Given the description of an element on the screen output the (x, y) to click on. 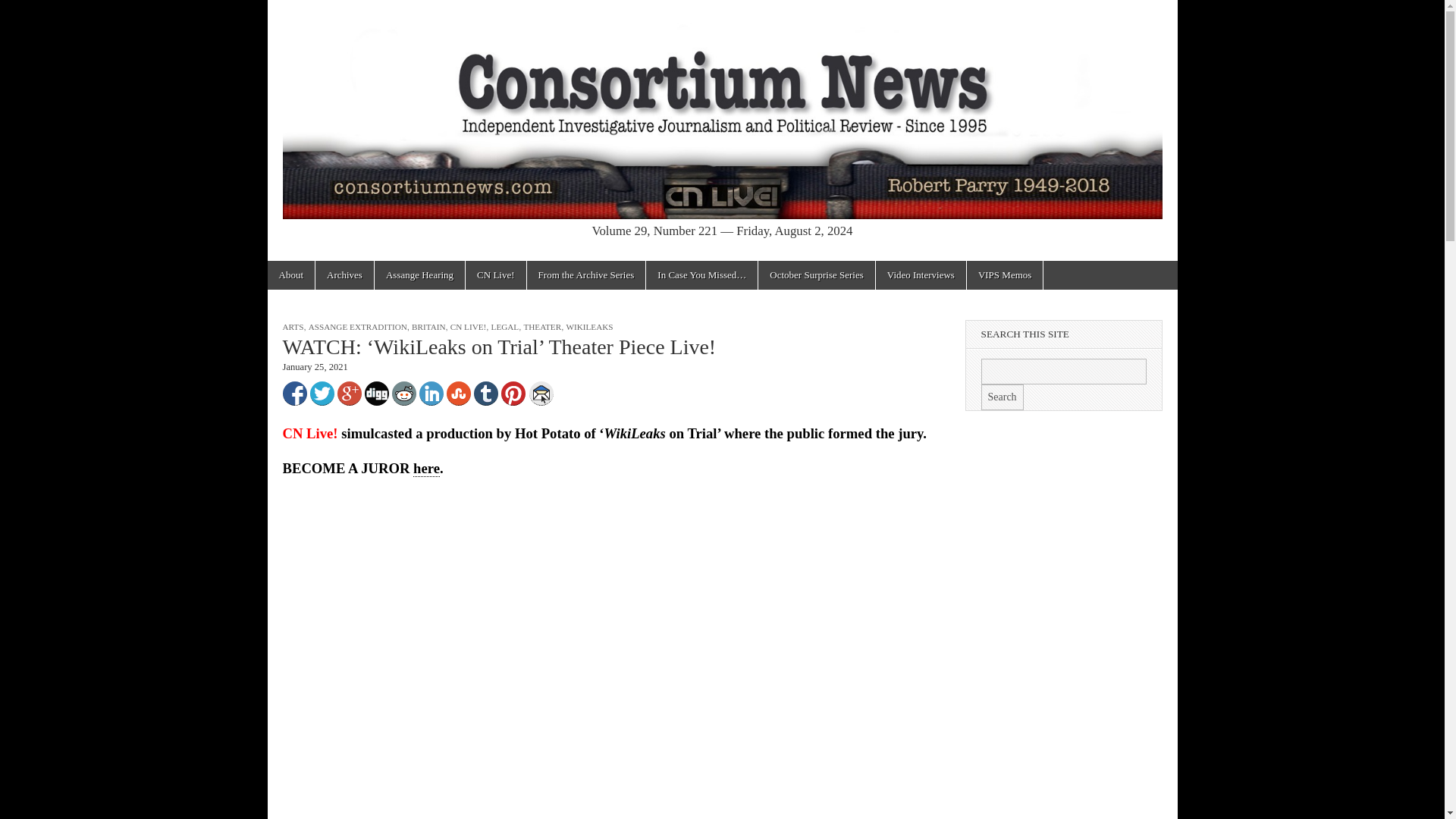
ASSANGE EXTRADITION (357, 326)
Video Interviews (921, 275)
here (426, 468)
Archives (344, 275)
CN Live! (495, 275)
Share to LinkedIn (430, 393)
Share to Twitter (320, 393)
ARTS (292, 326)
October Surprise Series (816, 275)
Share to Digg (376, 393)
Share to Reddit (402, 393)
Email this article (541, 393)
CN LIVE! (467, 326)
THEATER (541, 326)
